Given the description of an element on the screen output the (x, y) to click on. 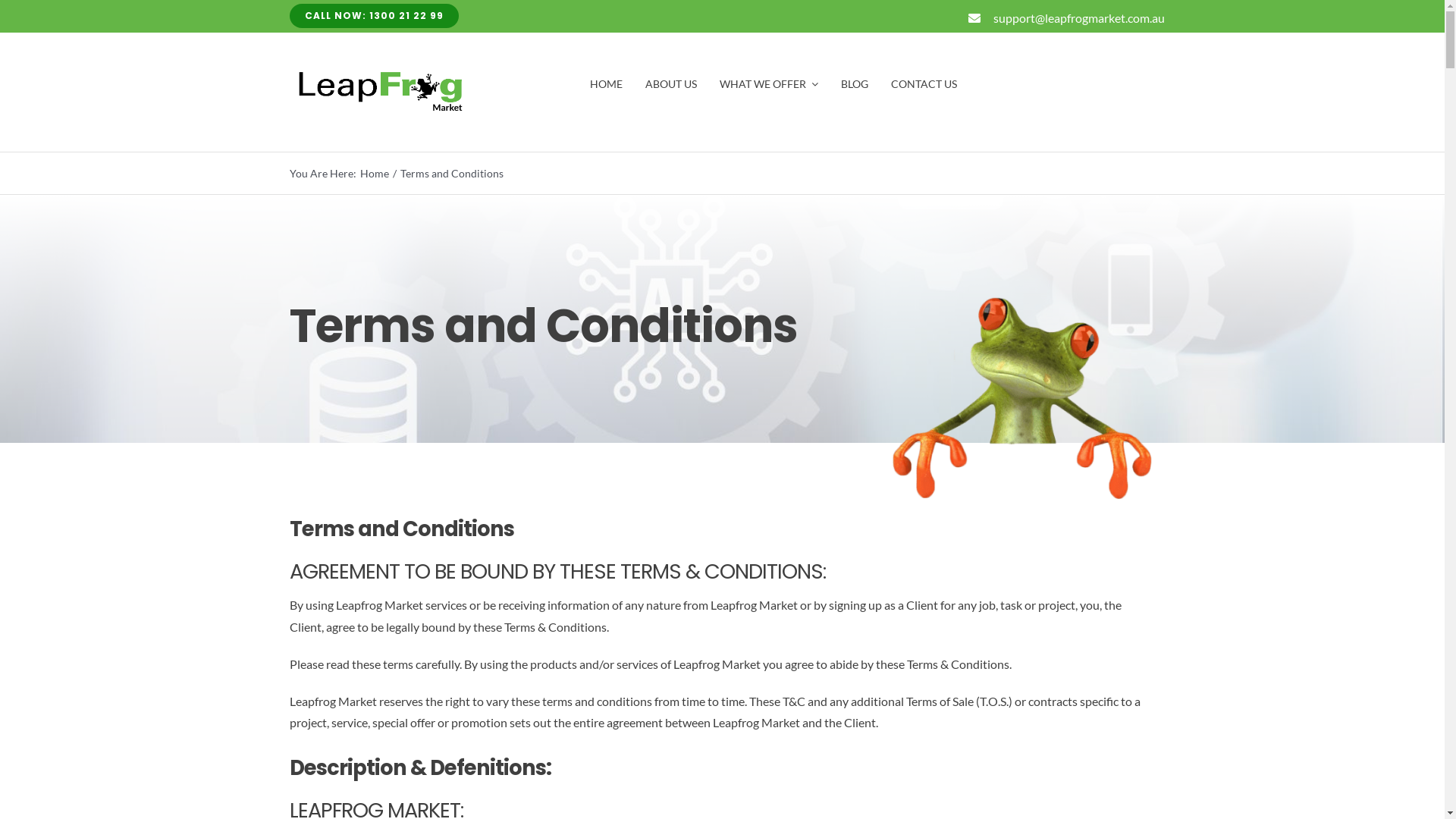
Info-frog Element type: hover (1021, 400)
ABOUT US Element type: text (670, 83)
support@leapfrogmarket.com.au Element type: text (1078, 17)
Home Element type: text (374, 172)
CALL NOW: 1300 21 22 99 Element type: text (373, 15)
CONTACT US Element type: text (924, 83)
HOME Element type: text (605, 83)
BLOG Element type: text (854, 83)
WHAT WE OFFER Element type: text (768, 83)
